Given the description of an element on the screen output the (x, y) to click on. 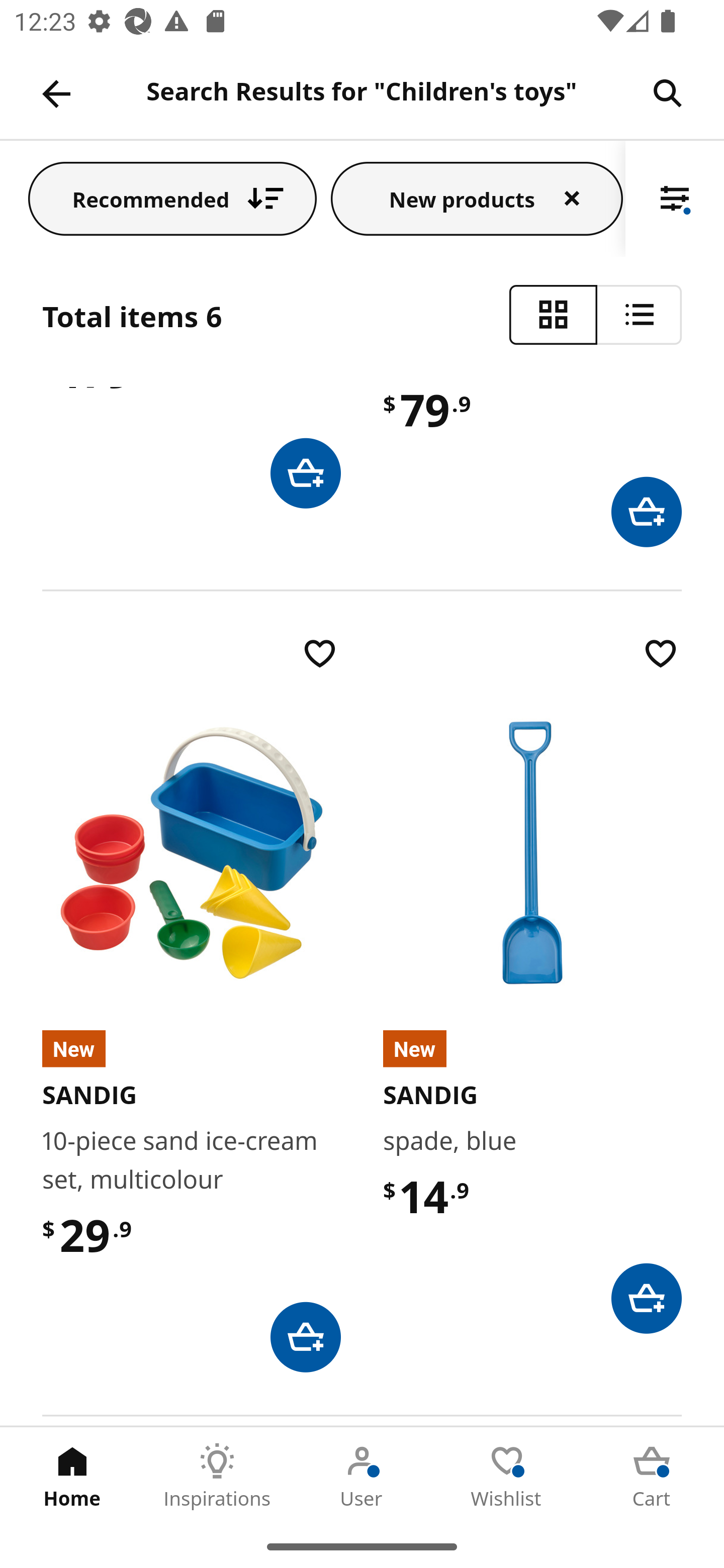
Recommended (172, 198)
New products (476, 198)
New
​S​A​N​D​I​G​
spade, blue
$
14
.9 (532, 983)
Home
Tab 1 of 5 (72, 1476)
Inspirations
Tab 2 of 5 (216, 1476)
User
Tab 3 of 5 (361, 1476)
Wishlist
Tab 4 of 5 (506, 1476)
Cart
Tab 5 of 5 (651, 1476)
